Given the description of an element on the screen output the (x, y) to click on. 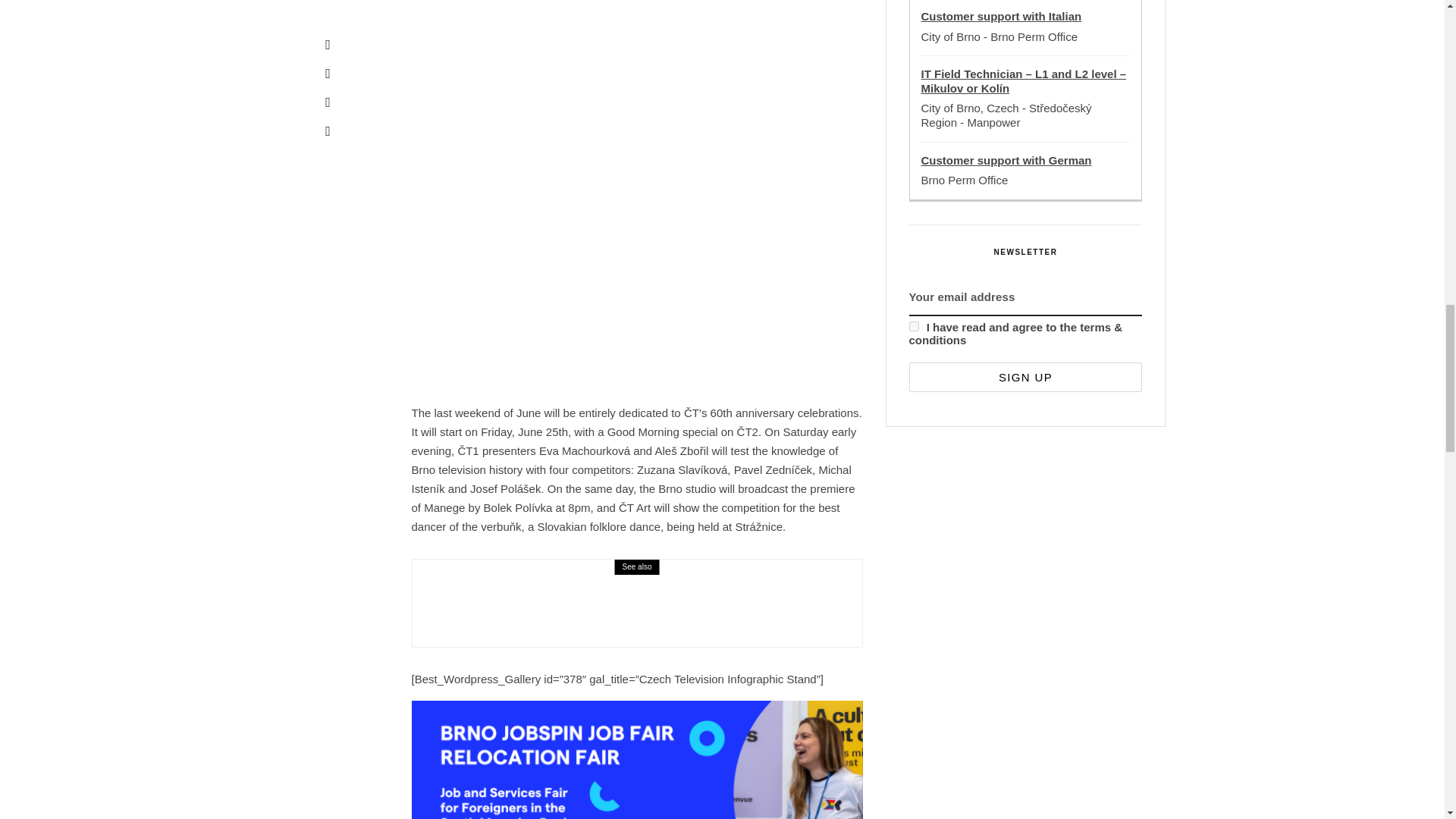
1 (913, 326)
Sign up (1024, 377)
